Given the description of an element on the screen output the (x, y) to click on. 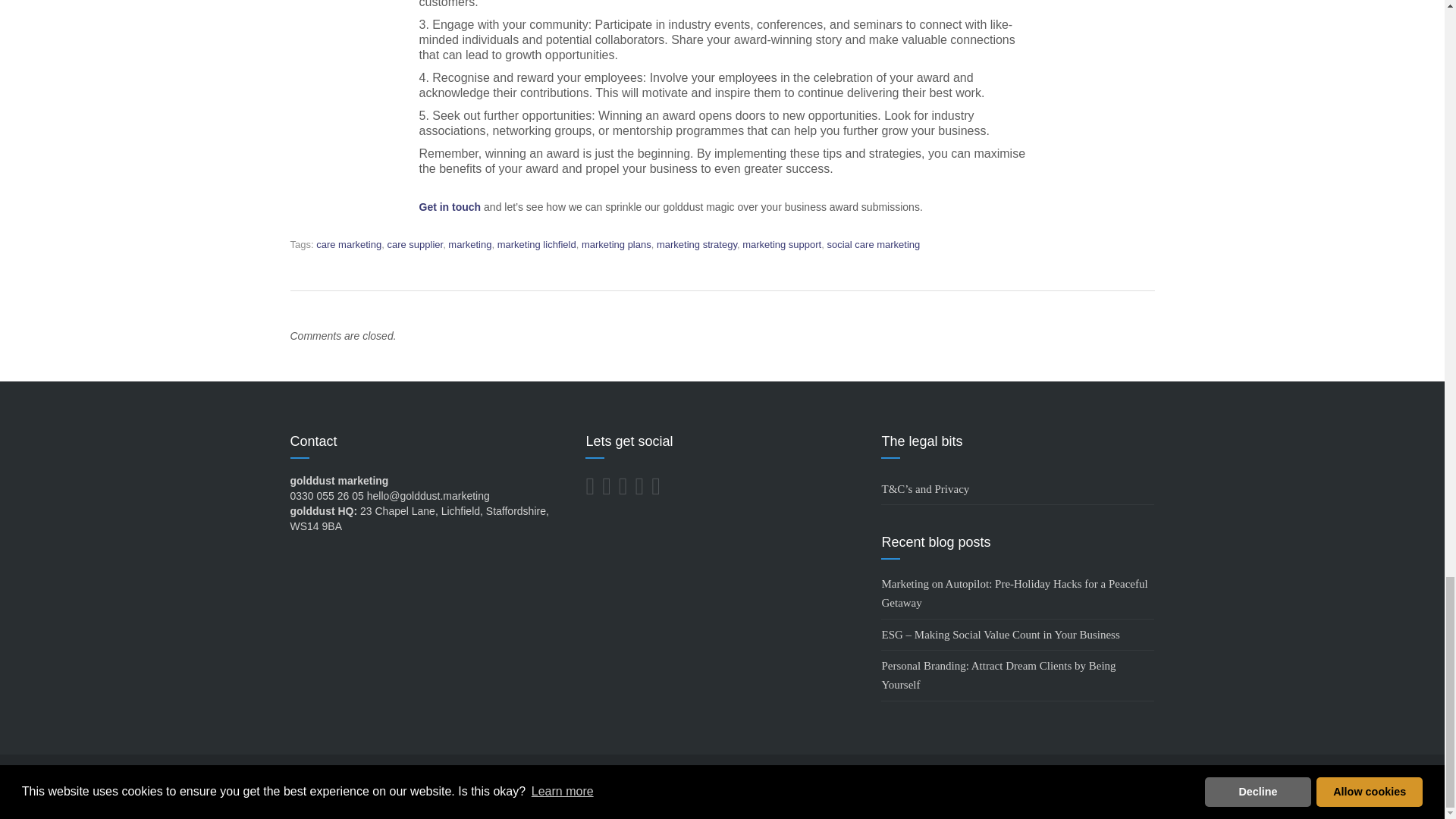
marketing (470, 244)
Get in touch (449, 206)
care marketing (348, 244)
care supplier (414, 244)
